Given the description of an element on the screen output the (x, y) to click on. 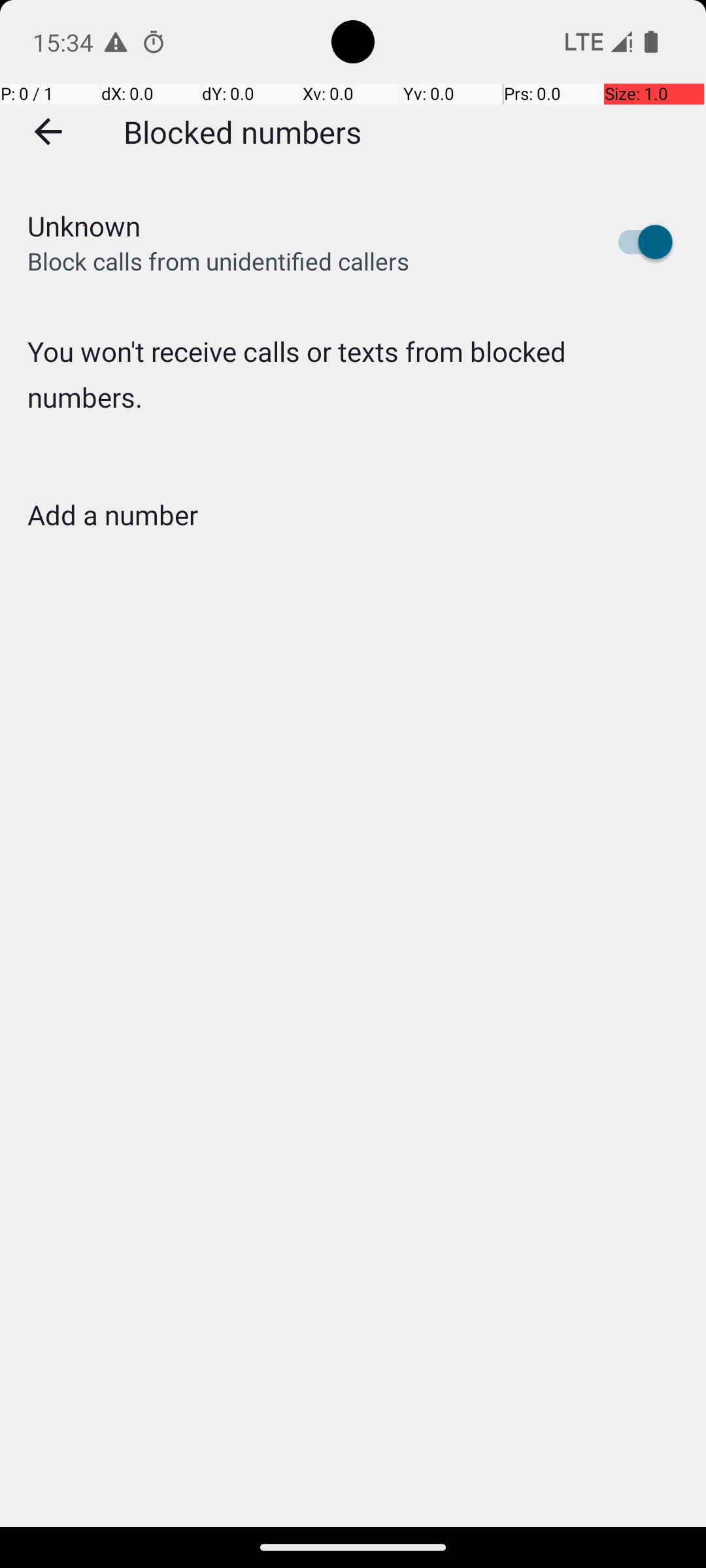
Blocked numbers Element type: android.widget.TextView (242, 131)
You won't receive calls or texts from blocked numbers. Element type: android.widget.TextView (352, 401)
Add a number Element type: android.widget.TextView (112, 514)
Unknown Element type: android.widget.TextView (83, 225)
Block calls from unidentified callers Element type: android.widget.TextView (218, 260)
